Given the description of an element on the screen output the (x, y) to click on. 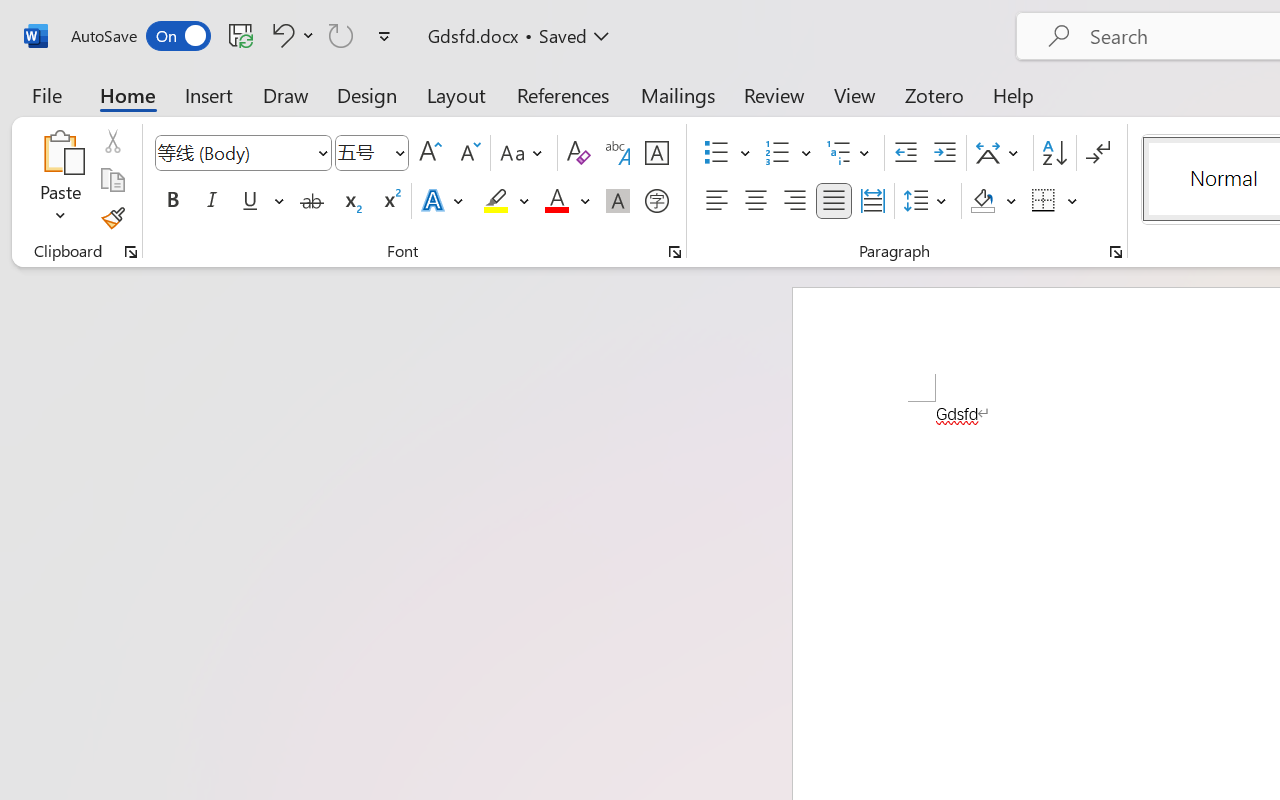
Can't Repeat (341, 35)
